Given the description of an element on the screen output the (x, y) to click on. 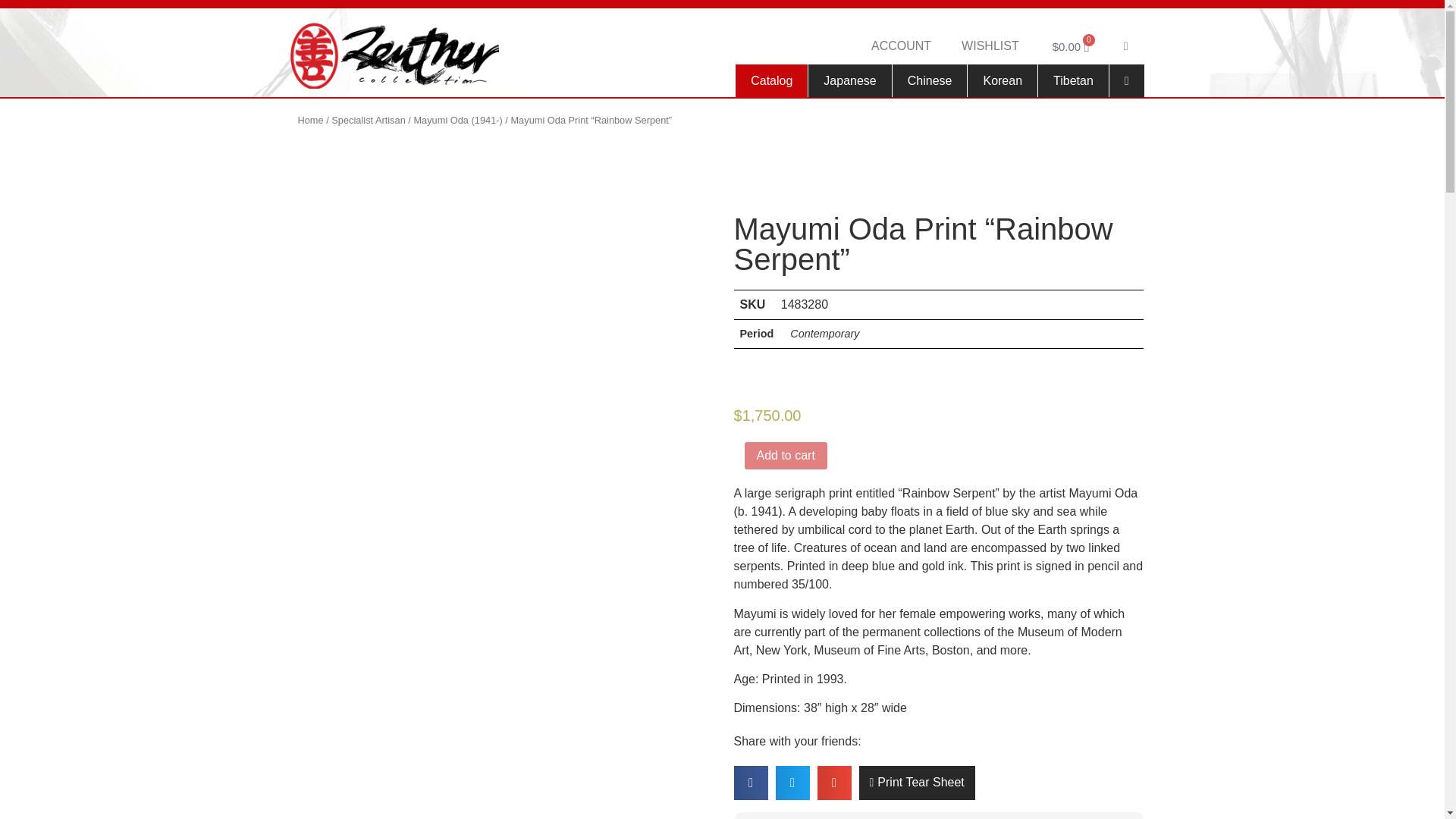
Catalog (771, 80)
ACCOUNT (901, 45)
Search (1126, 45)
WISHLIST (989, 45)
